Given the description of an element on the screen output the (x, y) to click on. 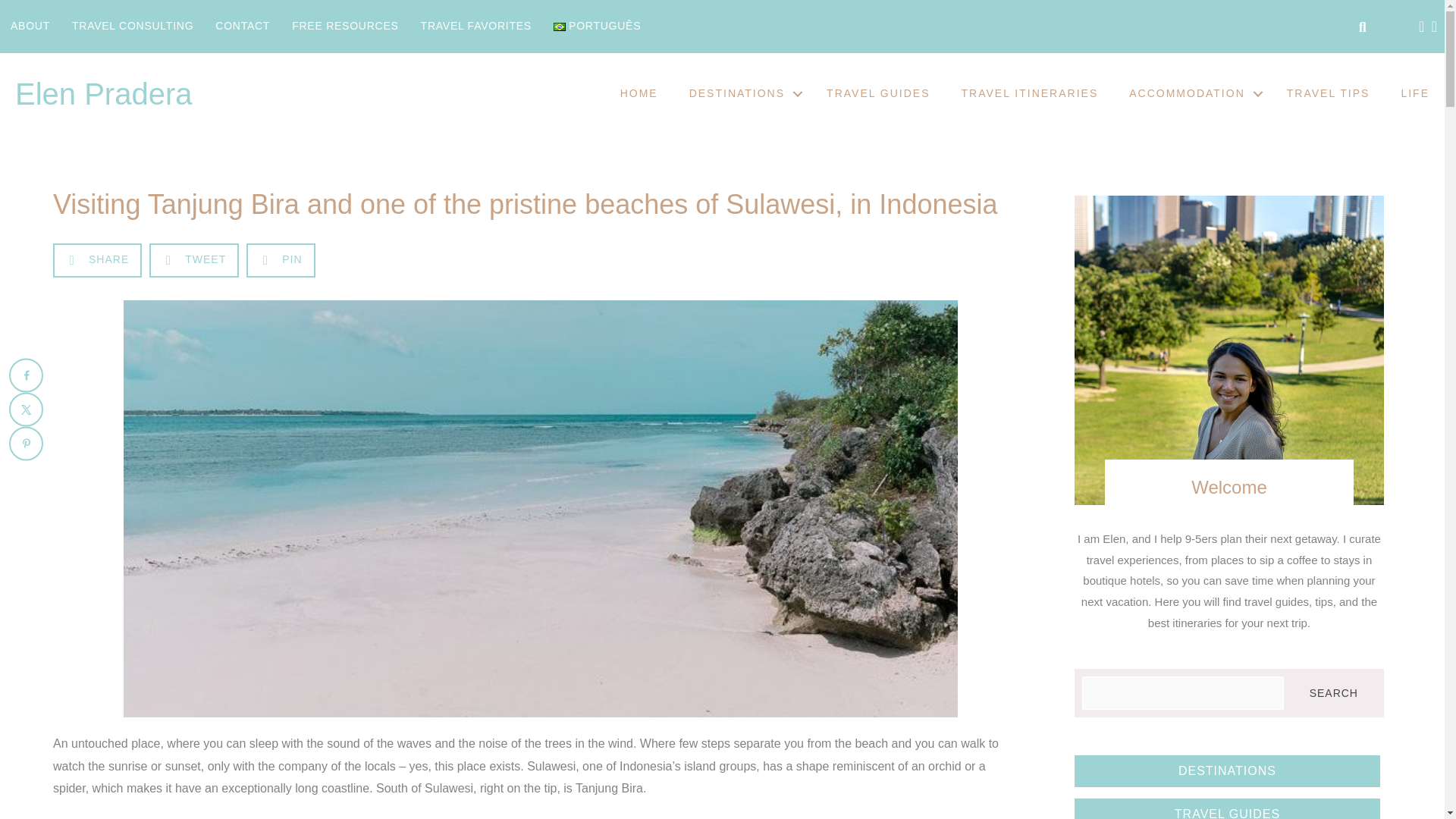
Elen Pradera (103, 93)
TRAVEL TIPS (1328, 93)
TRAVEL FAVORITES (475, 25)
DESTINATIONS (742, 93)
ACCOMMODATION (1192, 93)
CONTACT (243, 25)
ABOUT (30, 25)
TRAVEL CONSULTING (132, 25)
Elen Pradera (103, 93)
HOME (638, 93)
